Given the description of an element on the screen output the (x, y) to click on. 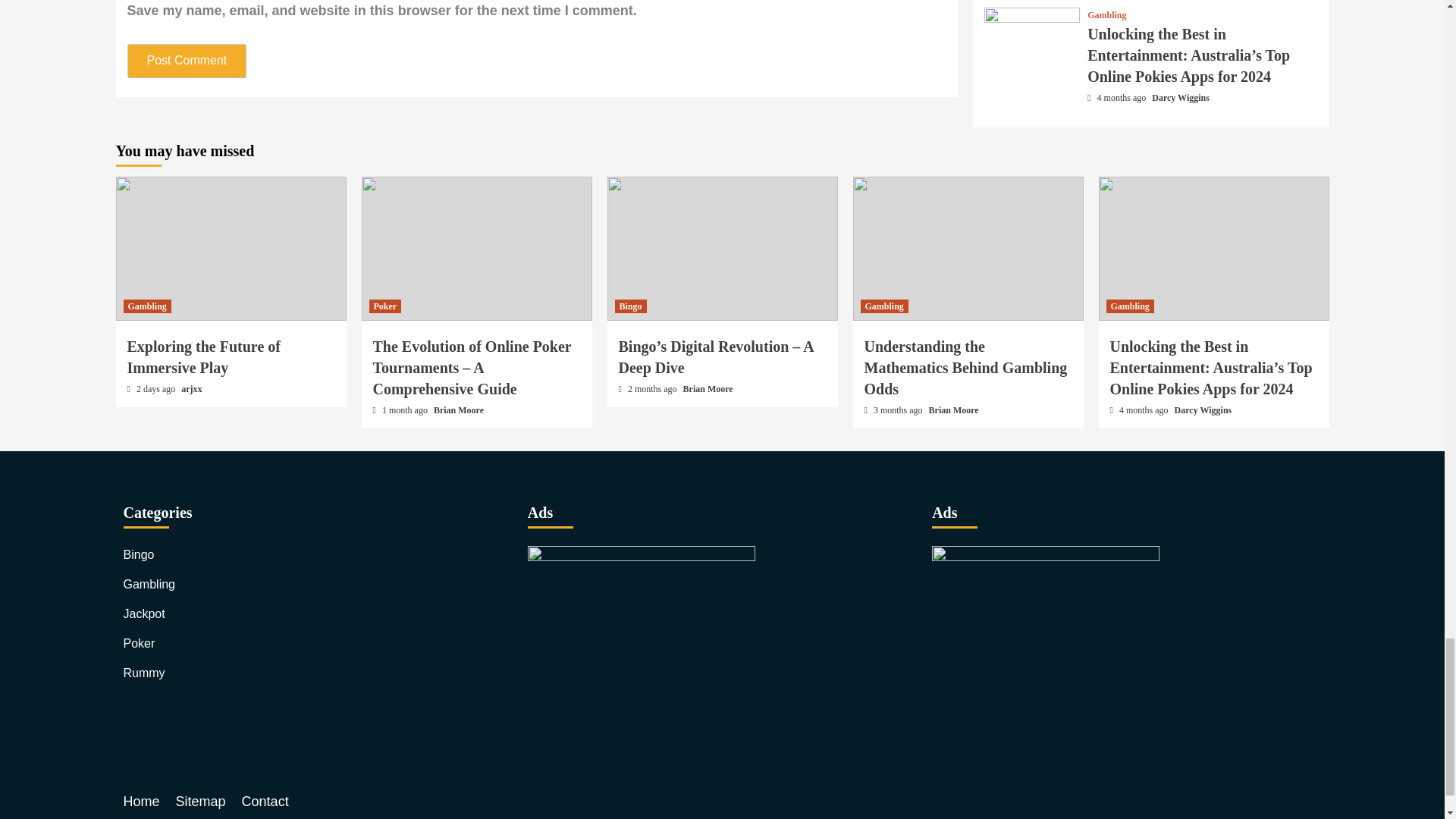
Post Comment (187, 60)
Post Comment (187, 60)
